Given the description of an element on the screen output the (x, y) to click on. 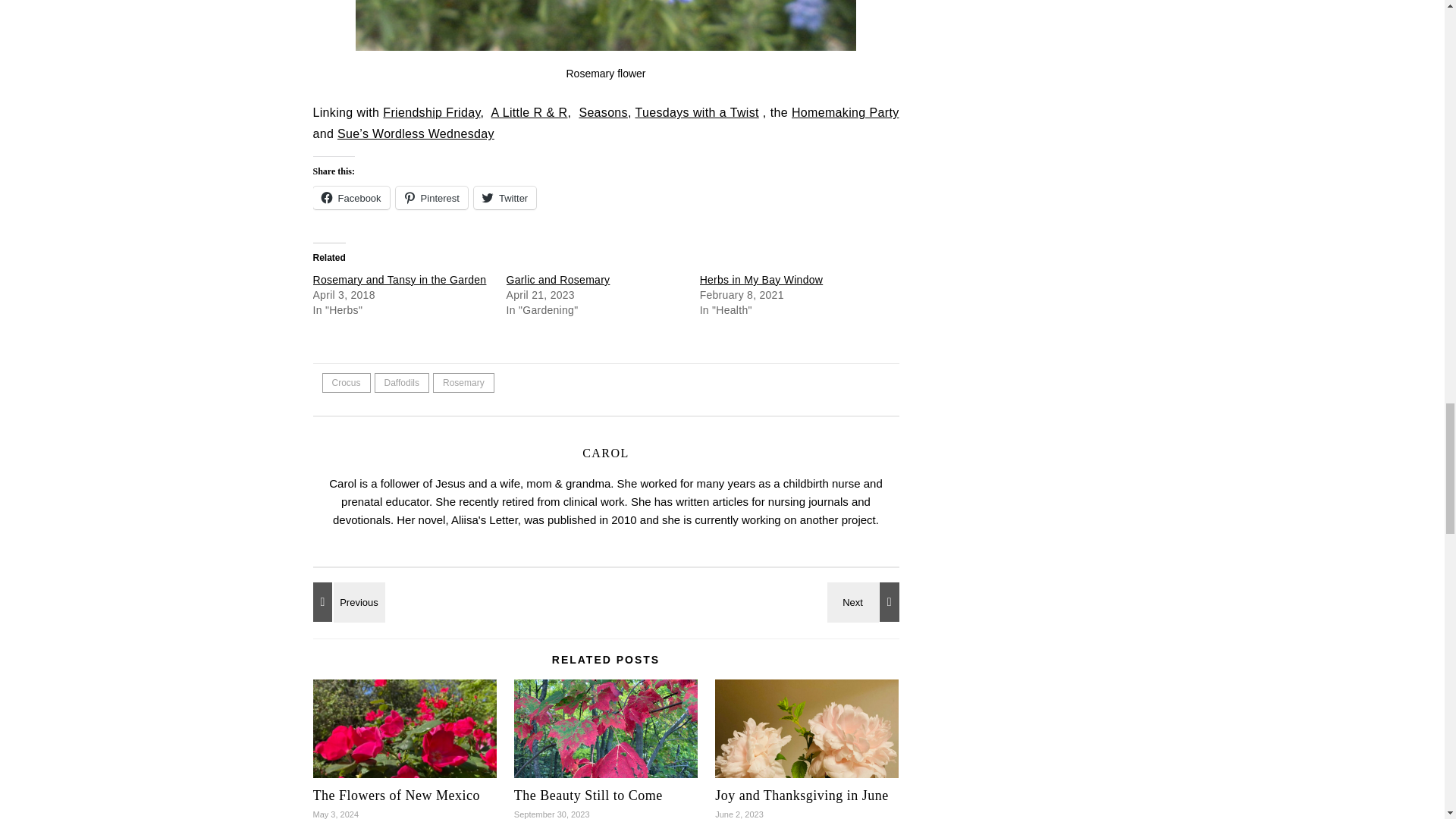
Garlic and Rosemary (558, 279)
Posts by Carol (605, 452)
Covenant in the Bible and Perspectives on the Family (865, 601)
Click to share on Twitter (504, 197)
Click to share on Facebook (350, 197)
Solving Social Problems or Shining Light in a Dark World? (346, 601)
Herbs in My Bay Window (762, 279)
Rosemary and Tansy in the Garden (399, 279)
Click to share on Pinterest (431, 197)
